Given the description of an element on the screen output the (x, y) to click on. 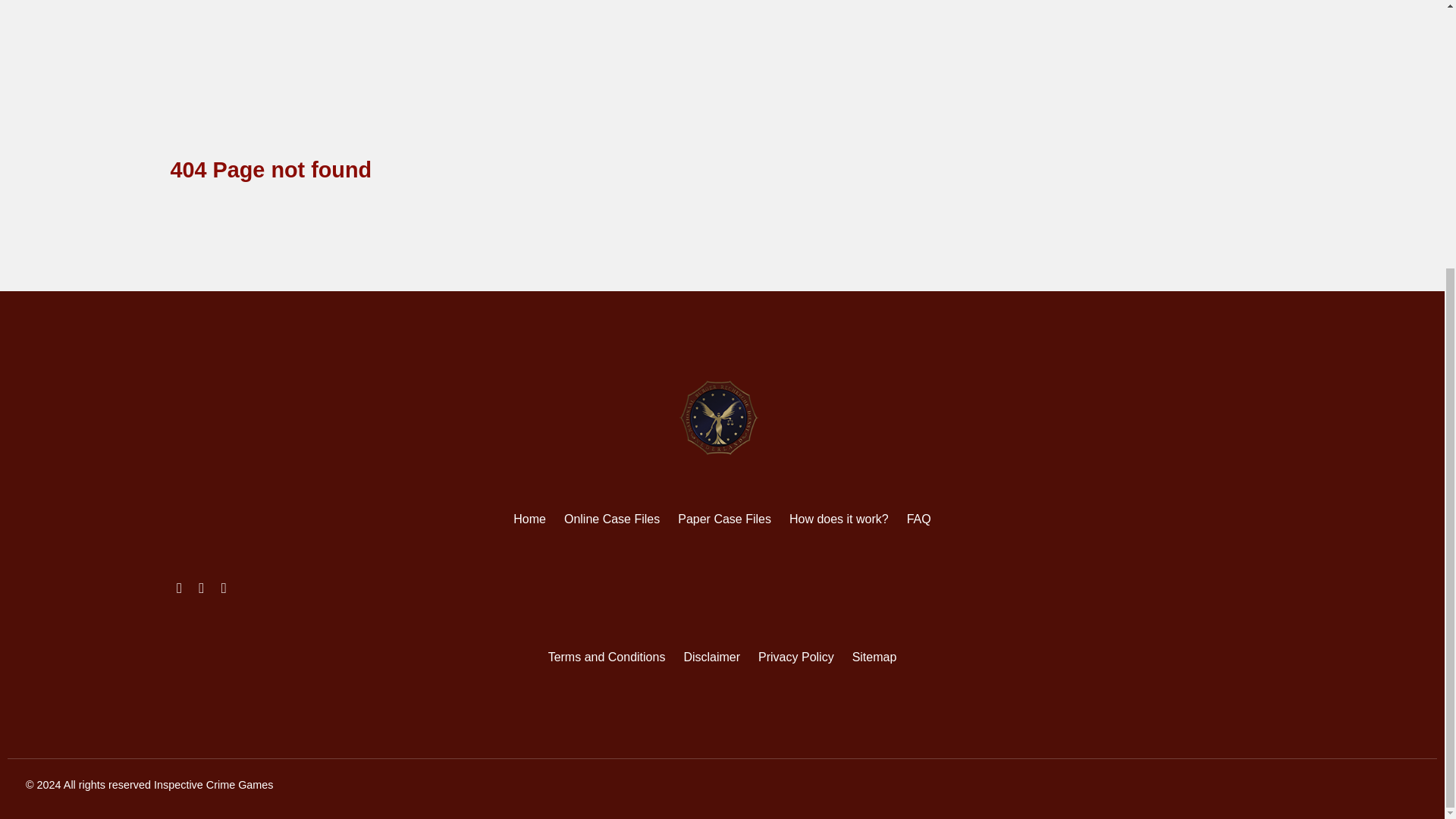
Disclaimer (710, 656)
Disclaimer (710, 656)
Terms and Conditions (606, 656)
FAQ (919, 518)
Sitemap (873, 656)
FAQ (919, 518)
Online Case Files (611, 518)
Paper Case Files (724, 518)
Paper Case Files (724, 518)
Privacy Policy (796, 656)
How does it work? (838, 518)
Sitemap (873, 656)
Privacy Policy (796, 656)
Terms and Conditions (606, 656)
